Given the description of an element on the screen output the (x, y) to click on. 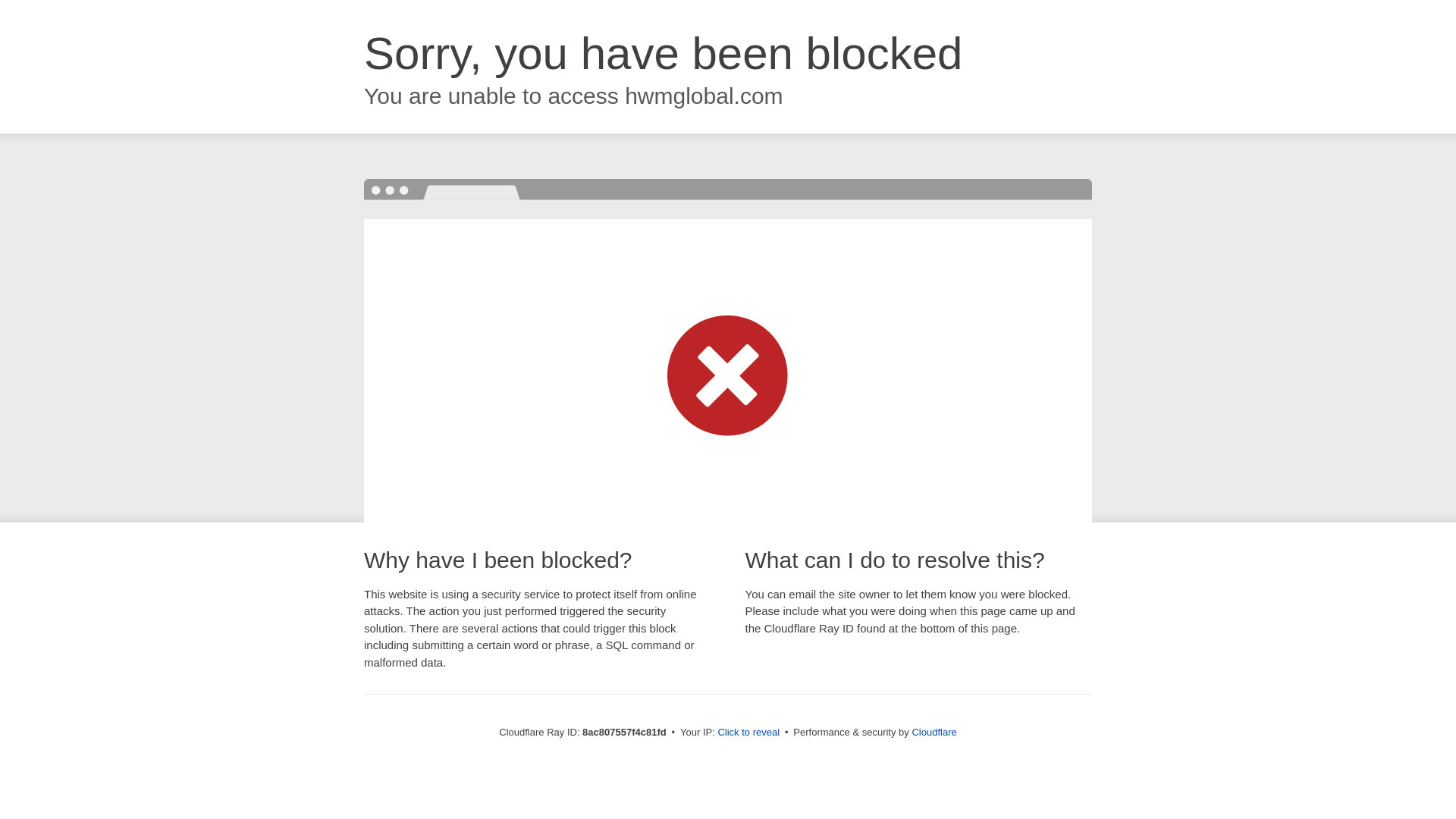
Click to reveal (747, 732)
Cloudflare (933, 731)
